Given the description of an element on the screen output the (x, y) to click on. 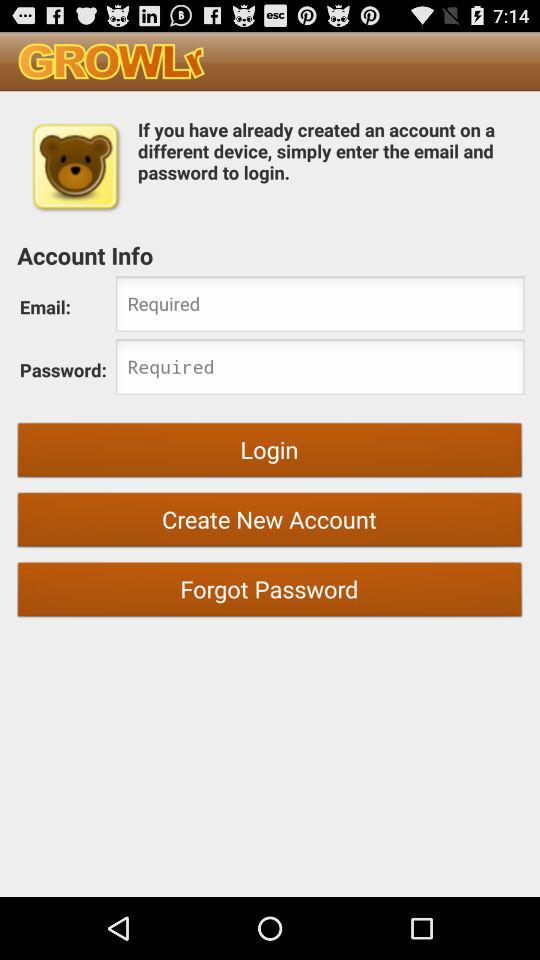
tap button below login item (269, 521)
